Given the description of an element on the screen output the (x, y) to click on. 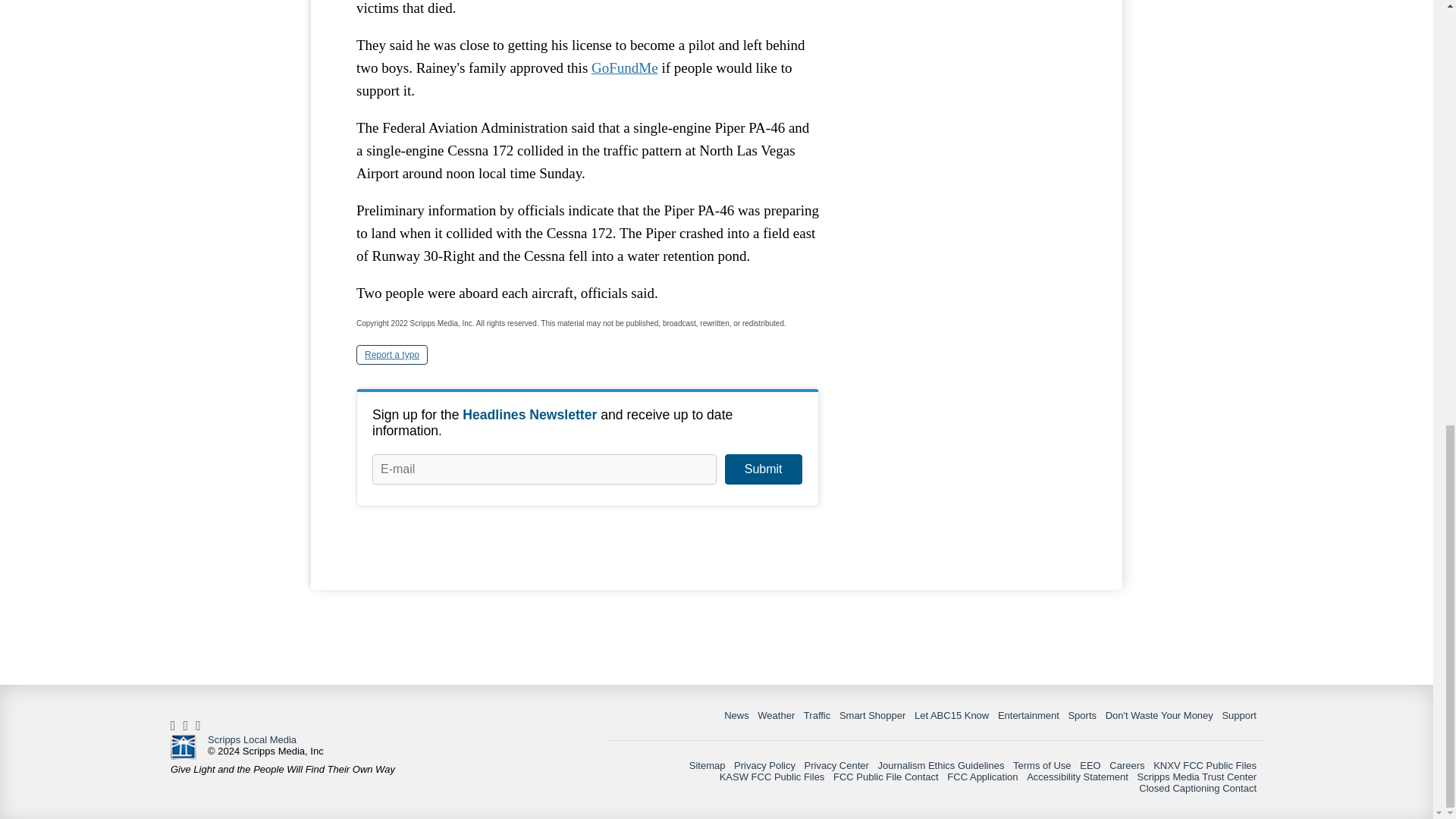
Submit (763, 469)
